Given the description of an element on the screen output the (x, y) to click on. 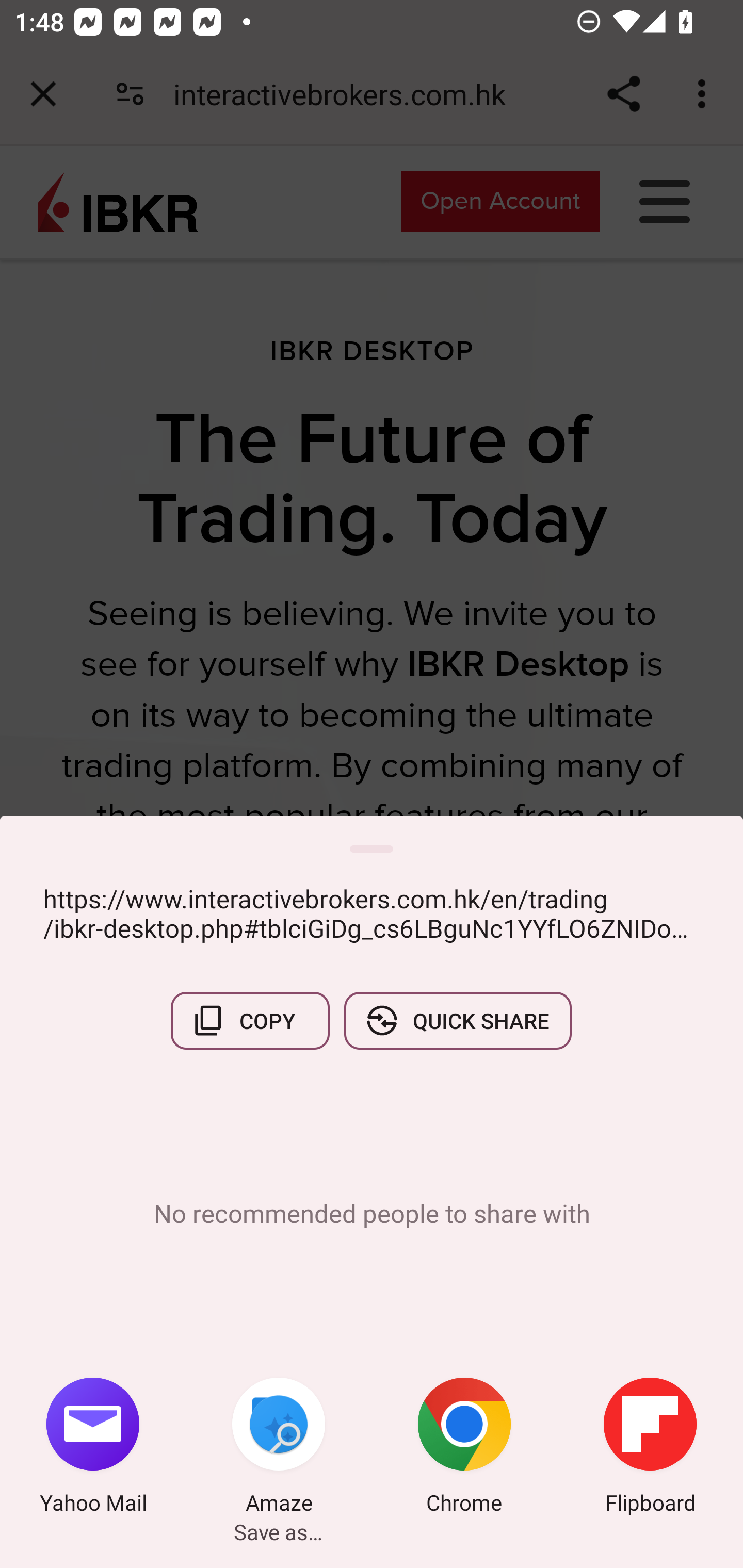
COPY (249, 1020)
QUICK SHARE (457, 1020)
Yahoo Mail (92, 1448)
Amaze Save as… (278, 1448)
Chrome (464, 1448)
Flipboard (650, 1448)
